Given the description of an element on the screen output the (x, y) to click on. 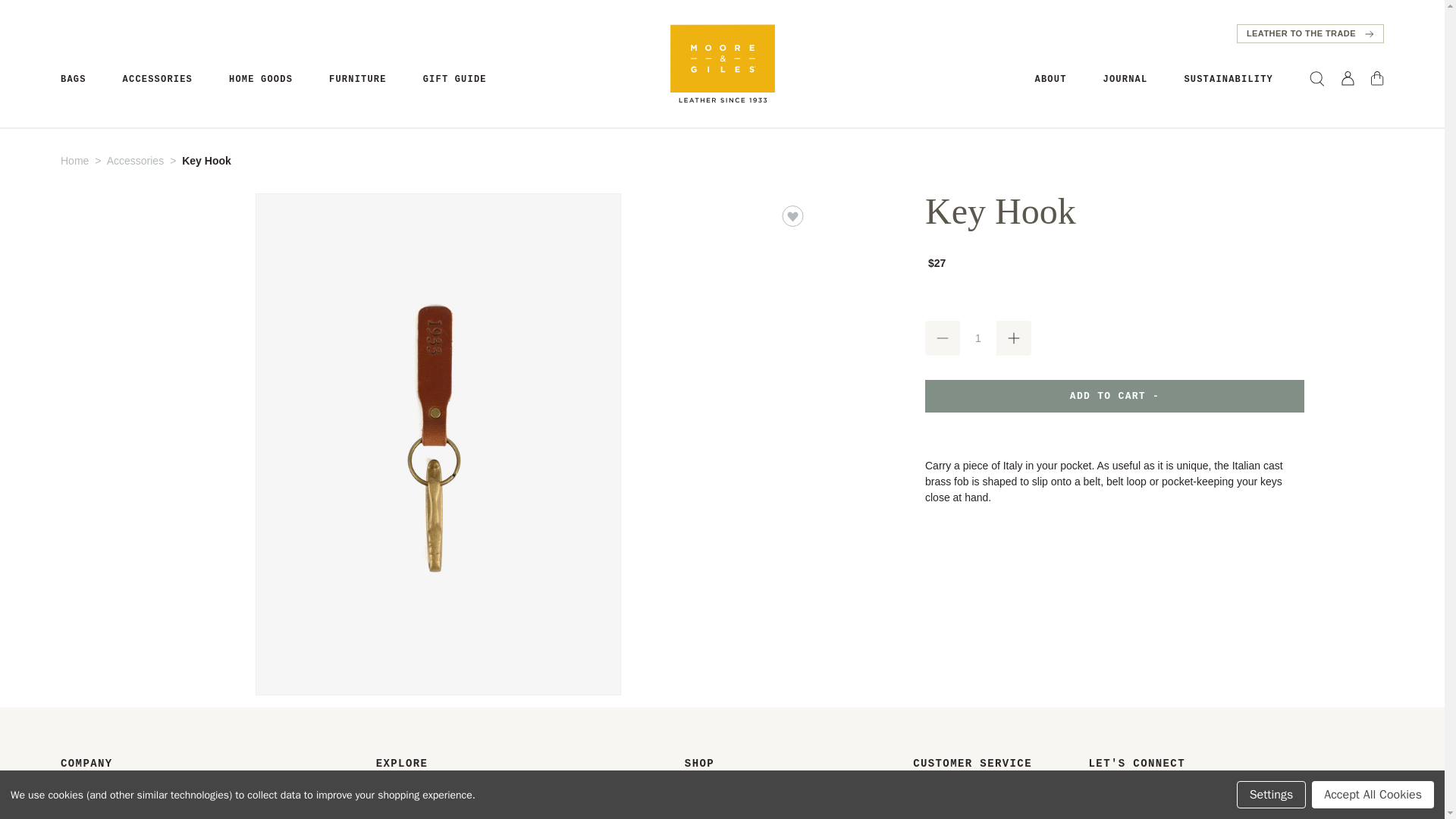
BAGS (73, 79)
SEARCH CLICKING THIS ICON WILL EXPAND SEARCH (1316, 78)
1 (977, 338)
Account Outline of a shirt and head to portray account (1347, 78)
Open Add to wishlist modal (792, 215)
ACCESSORIES (157, 79)
